Given the description of an element on the screen output the (x, y) to click on. 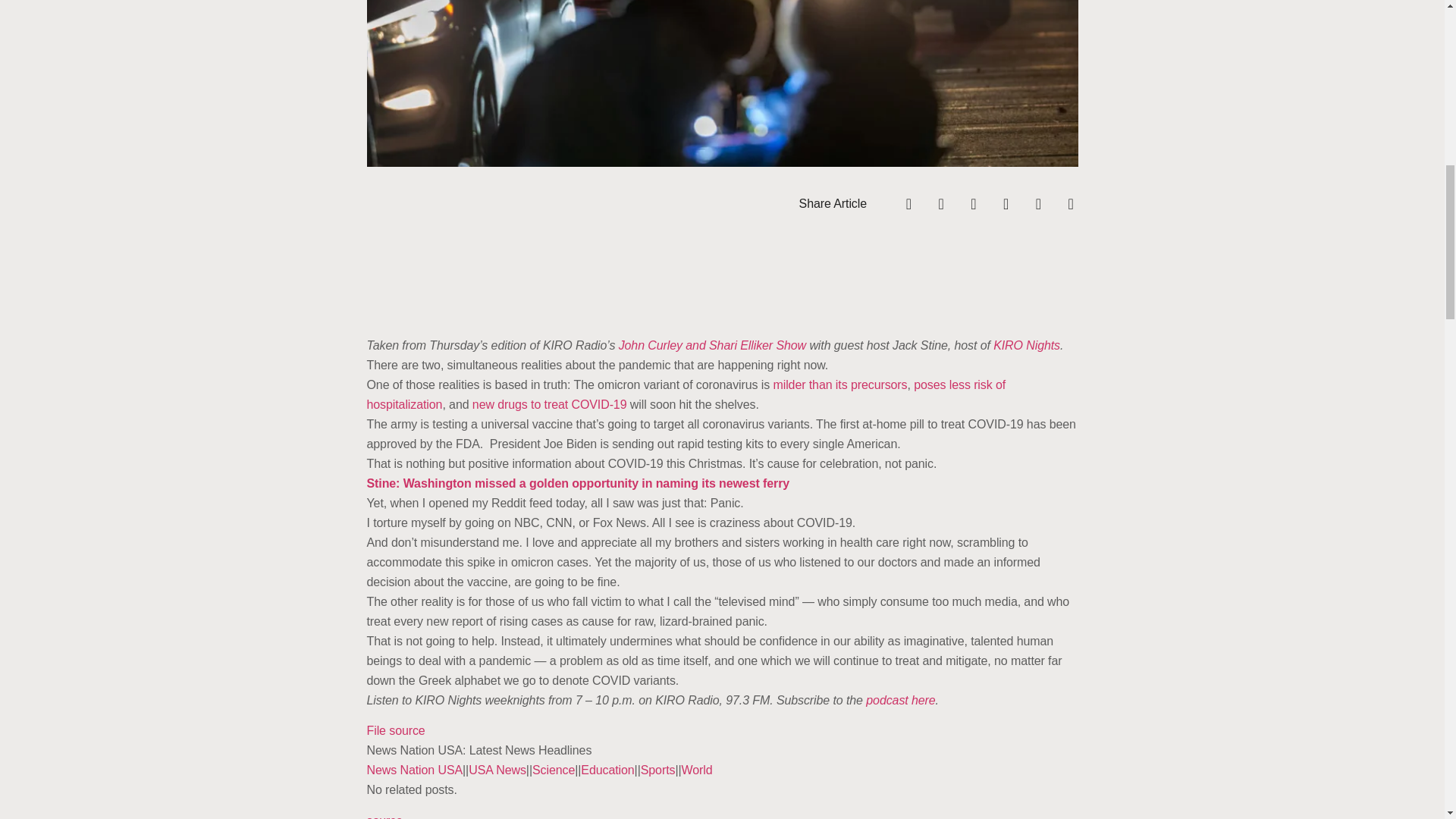
KIRO Nights (1025, 345)
poses less risk of hospitalization (686, 394)
new drugs to treat COVID-19 (549, 404)
milder than its precursors (840, 384)
File source (395, 730)
Sports (657, 769)
News Nation USA (414, 769)
Science (553, 769)
Education (606, 769)
